Given the description of an element on the screen output the (x, y) to click on. 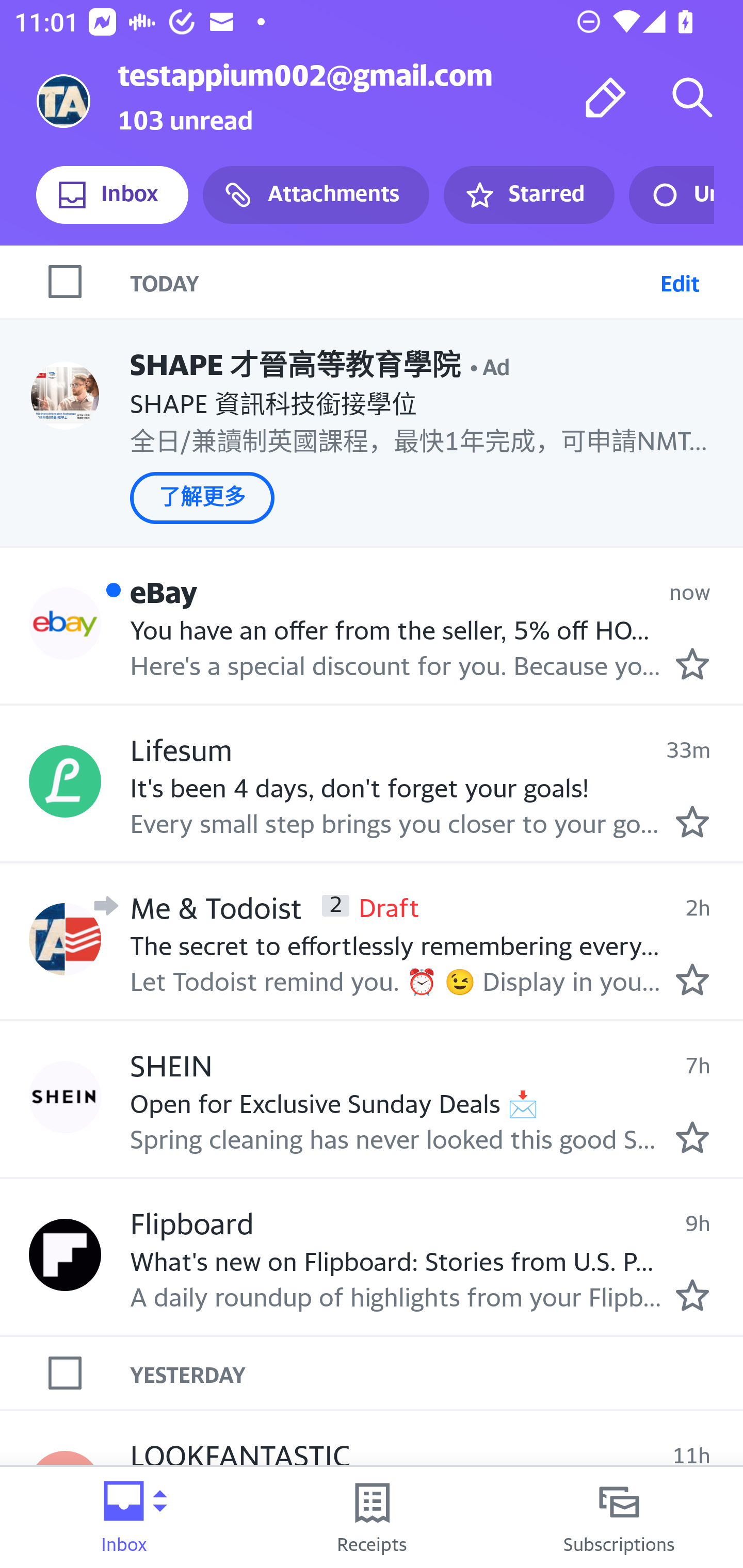
Compose (605, 97)
Search mail (692, 97)
Attachments (315, 195)
Starred (528, 195)
TODAY (391, 281)
Edit Select emails (679, 281)
Profile
eBay (64, 624)
Mark as starred. (692, 664)
Profile
Lifesum (64, 780)
Mark as starred. (692, 821)
Profile
Me & Todoist (64, 939)
Mark as starred. (692, 979)
Profile
SHEIN (64, 1097)
Mark as starred. (692, 1137)
Profile
Flipboard (64, 1254)
Mark as starred. (692, 1294)
YESTERDAY (436, 1372)
Inbox Folder picker (123, 1517)
Receipts (371, 1517)
Subscriptions (619, 1517)
